Given the description of an element on the screen output the (x, y) to click on. 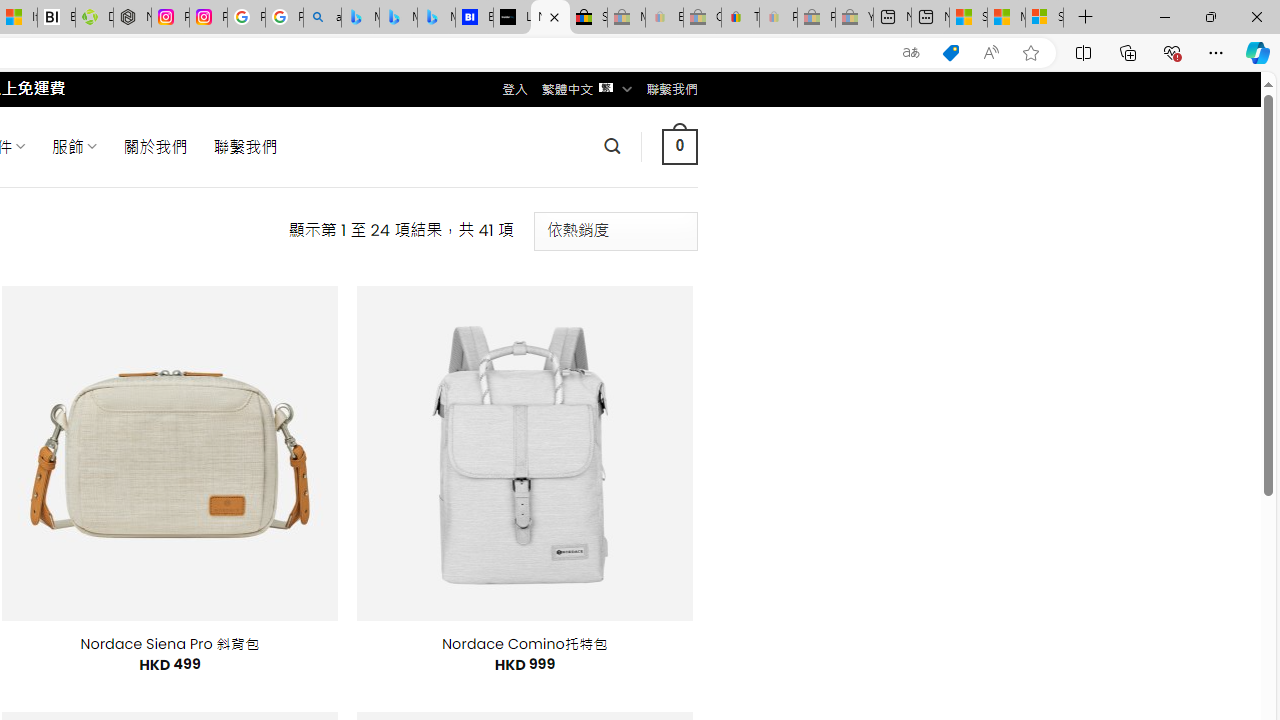
 0  (679, 146)
Shanghai, China hourly forecast | Microsoft Weather (967, 17)
Yard, Garden & Outdoor Living - Sleeping (853, 17)
Microsoft Bing Travel - Flights from Hong Kong to Bangkok (359, 17)
